Given the description of an element on the screen output the (x, y) to click on. 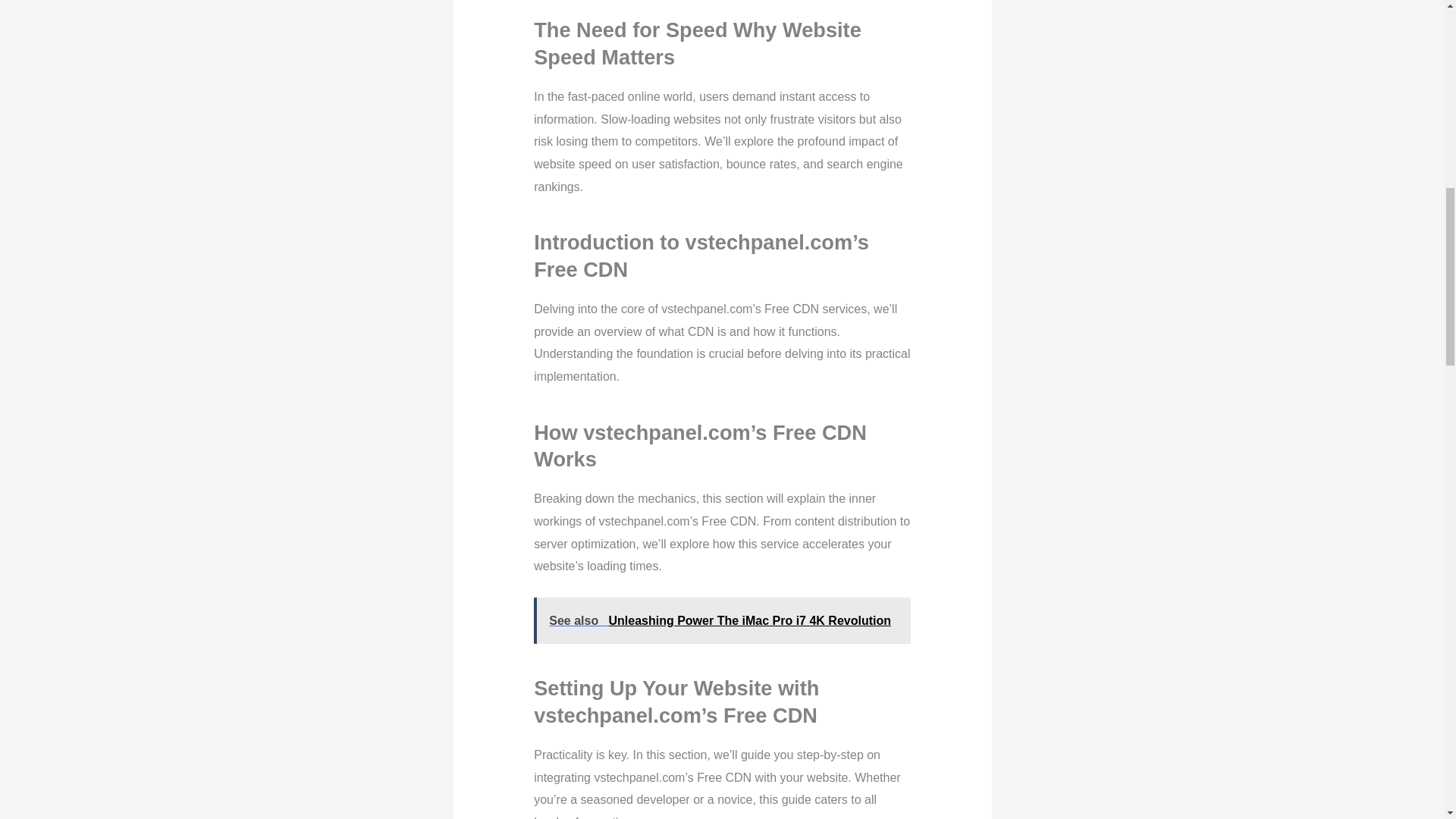
See also   Unleashing Power The iMac Pro i7 4K Revolution (722, 620)
